Given the description of an element on the screen output the (x, y) to click on. 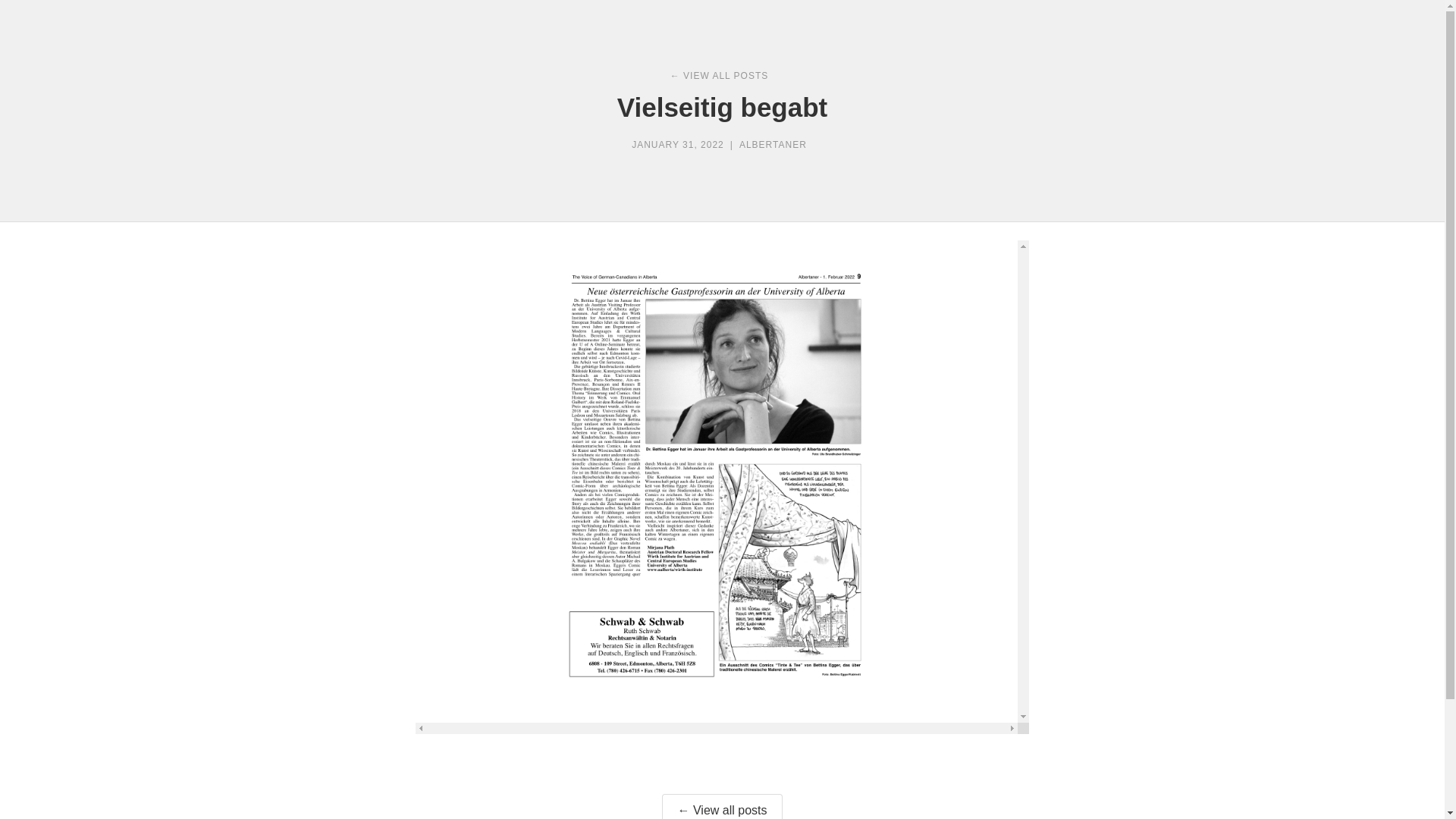
ALBERTANER Element type: text (772, 144)
